Given the description of an element on the screen output the (x, y) to click on. 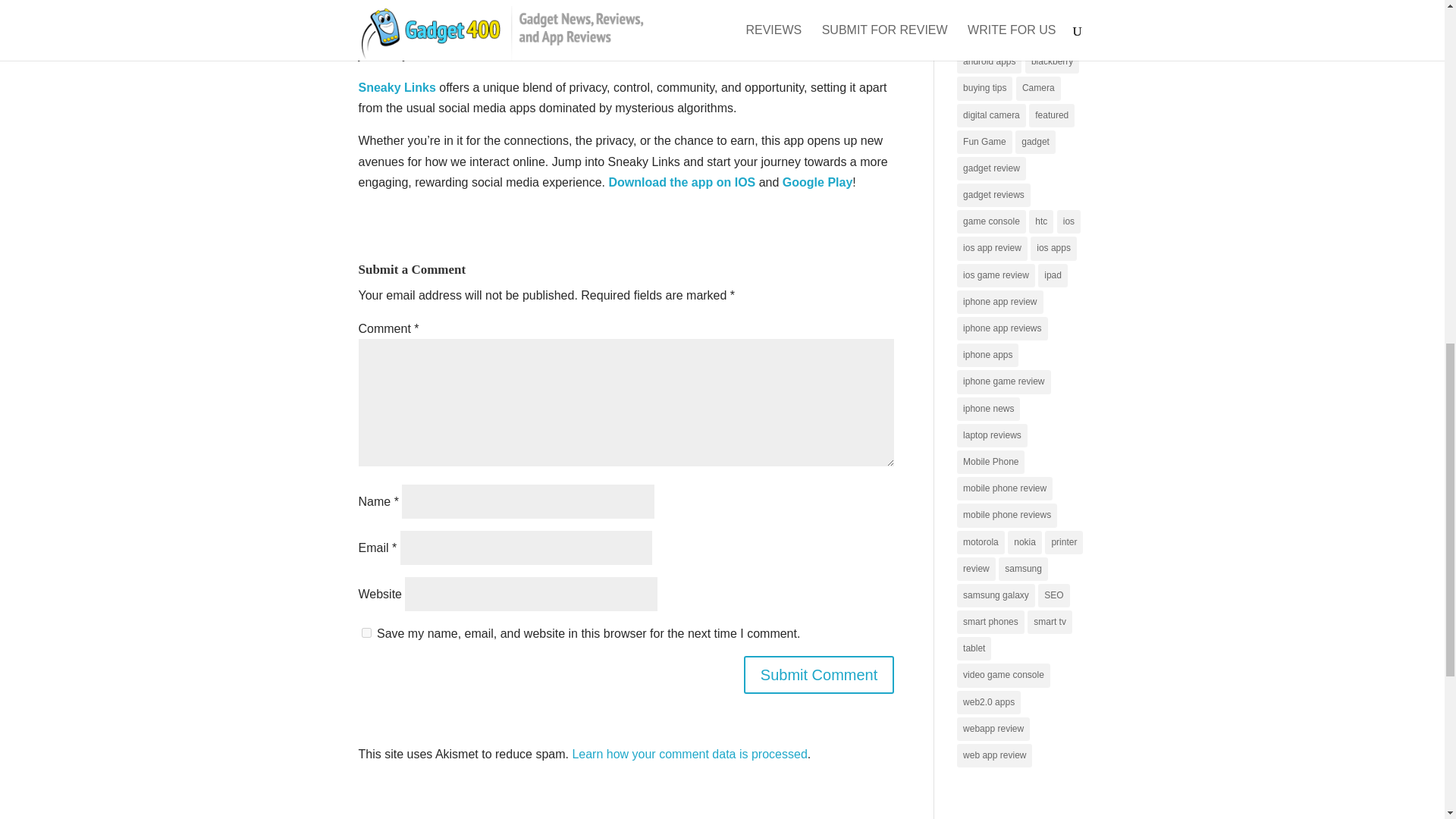
gadget (1034, 141)
blackberry (1051, 61)
Sneaky Links (396, 87)
Learn how your comment data is processed (689, 753)
buying tips (983, 87)
gadget review (991, 168)
game console (991, 221)
ios (1068, 221)
yes (366, 633)
Download the app on IOS (680, 182)
